Given the description of an element on the screen output the (x, y) to click on. 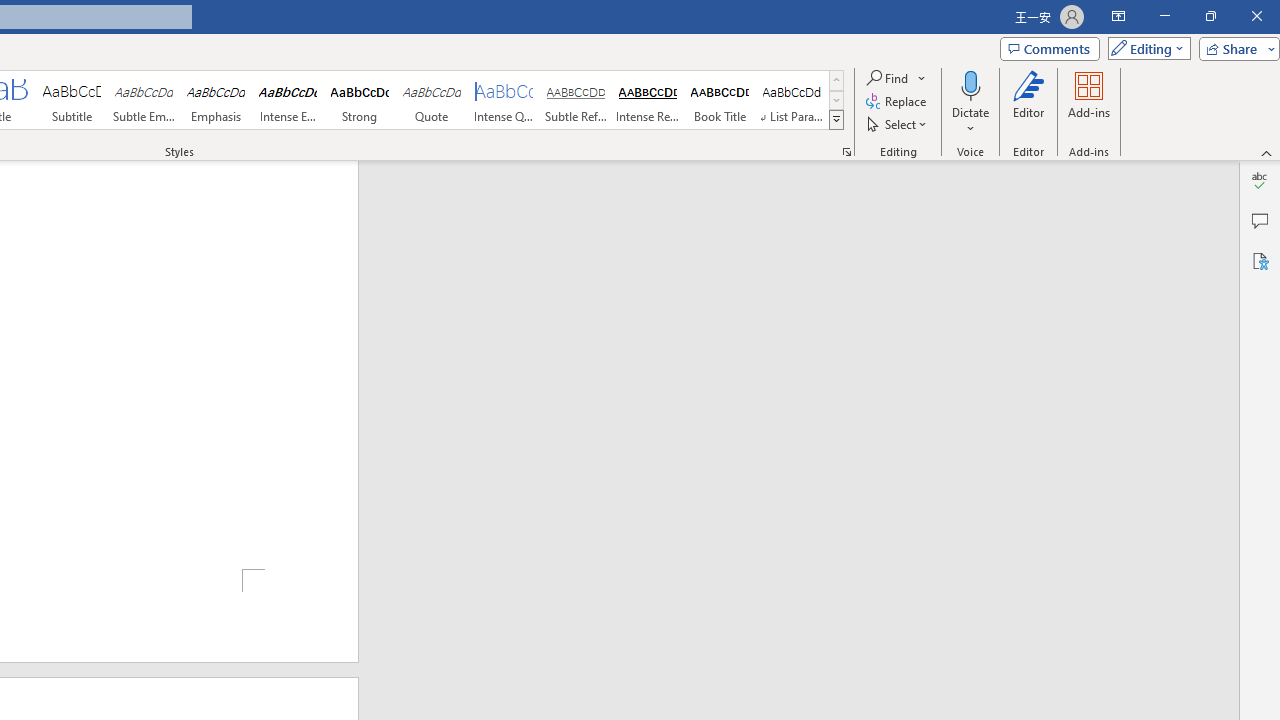
Intense Reference (647, 100)
Find (896, 78)
Editor (1028, 102)
Subtle Reference (575, 100)
Comments (1049, 48)
Quote (431, 100)
